Given the description of an element on the screen output the (x, y) to click on. 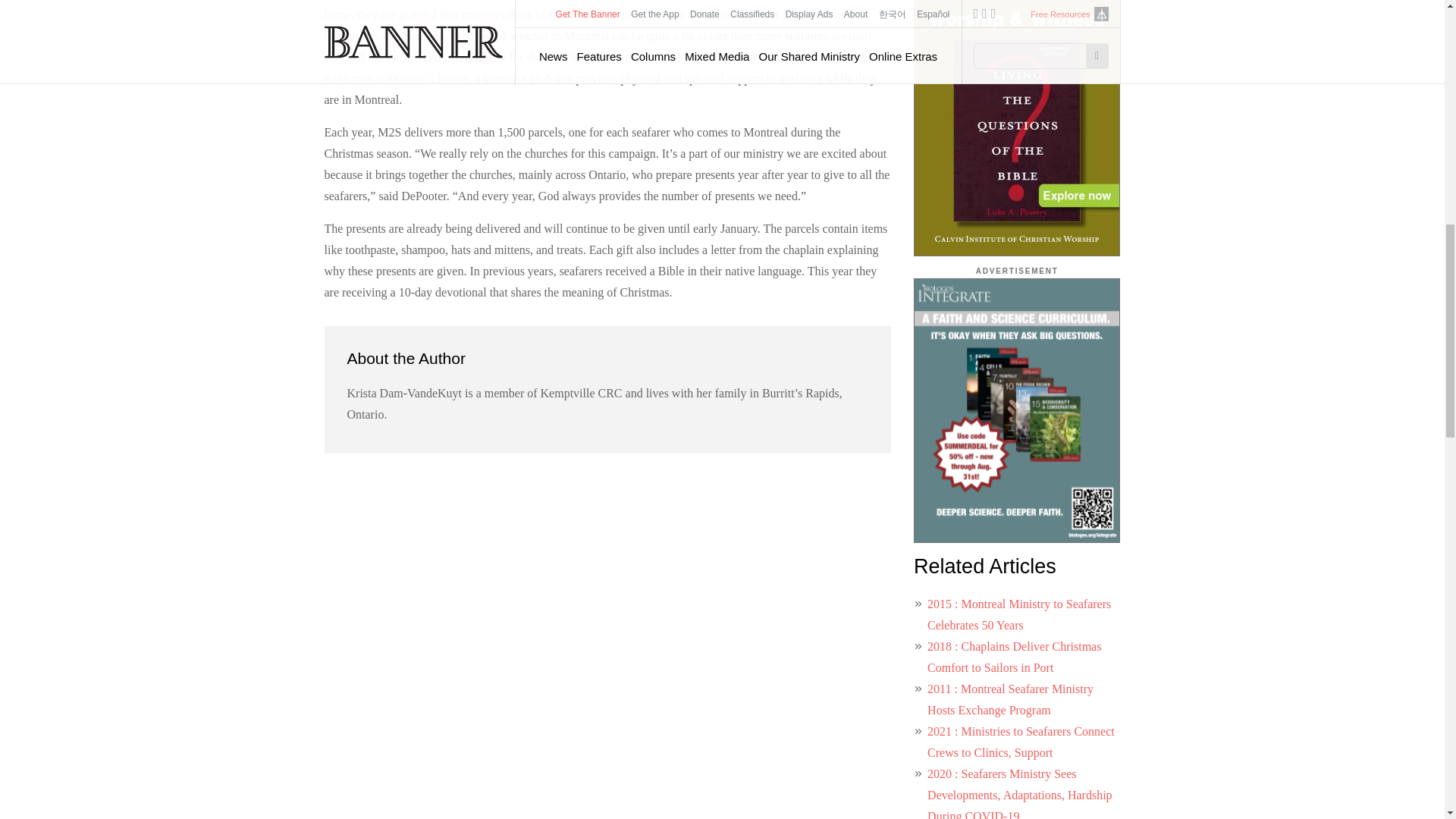
2011 : Montreal Seafarer Ministry Hosts Exchange Program (1010, 699)
2015 : Montreal Ministry to Seafarers Celebrates 50 Years (1018, 614)
Ministry to Seafarers (630, 56)
